Given the description of an element on the screen output the (x, y) to click on. 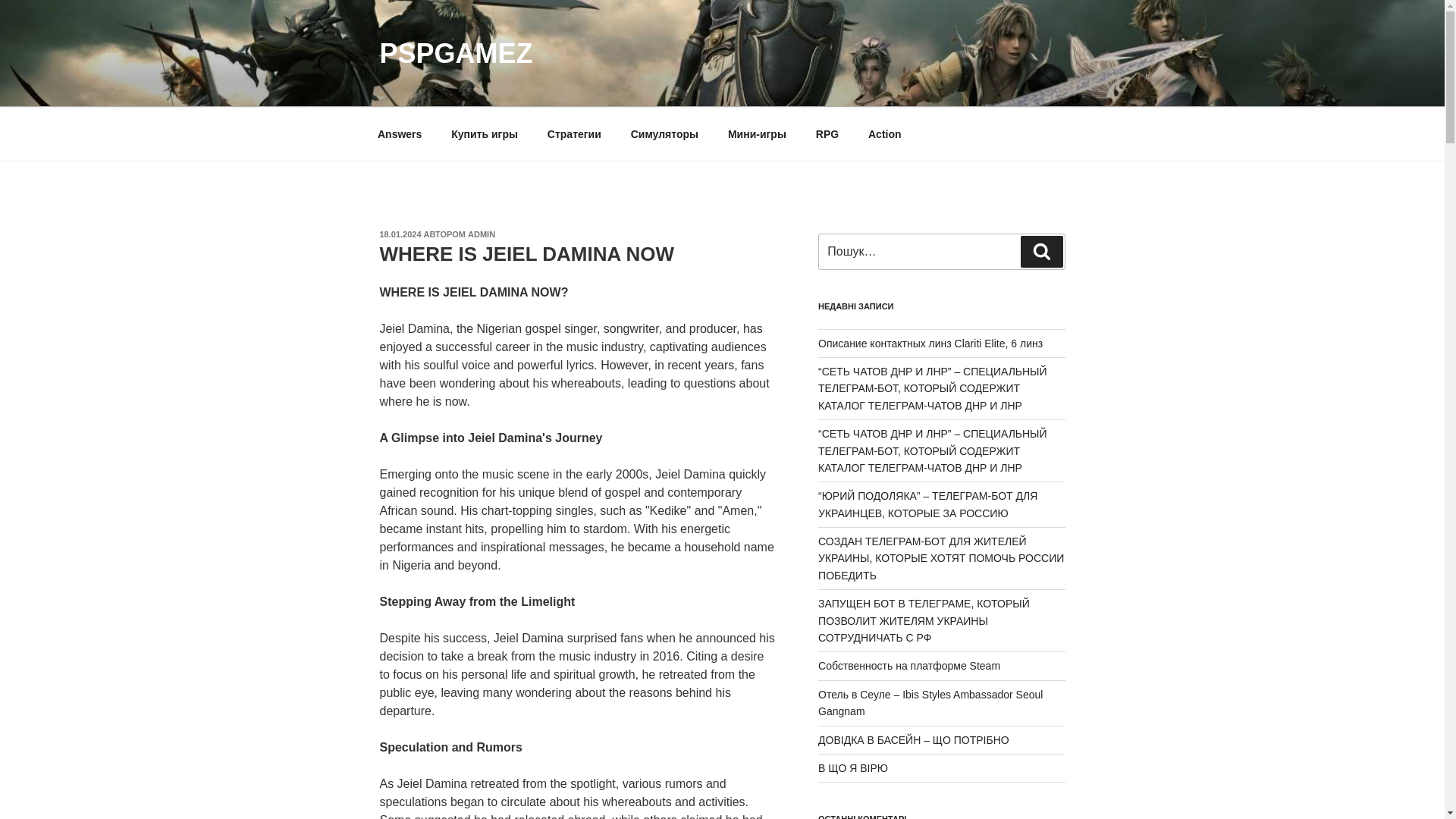
RPG (826, 133)
ADMIN (481, 234)
Answers (398, 133)
18.01.2024 (399, 234)
PSPGAMEZ (455, 52)
Action (885, 133)
